Given the description of an element on the screen output the (x, y) to click on. 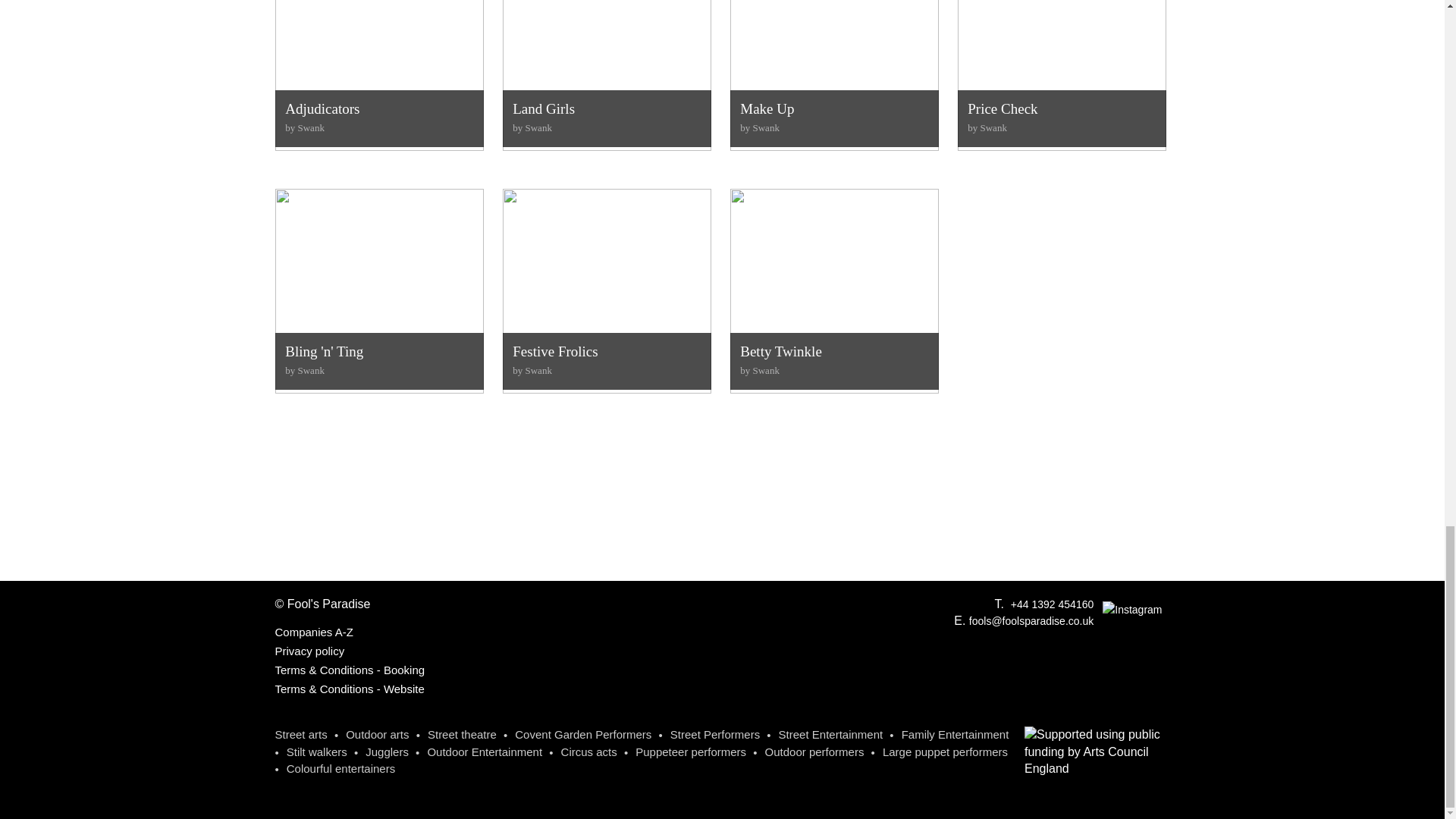
Companies A-Z (313, 631)
Privacy policy (833, 83)
